Given the description of an element on the screen output the (x, y) to click on. 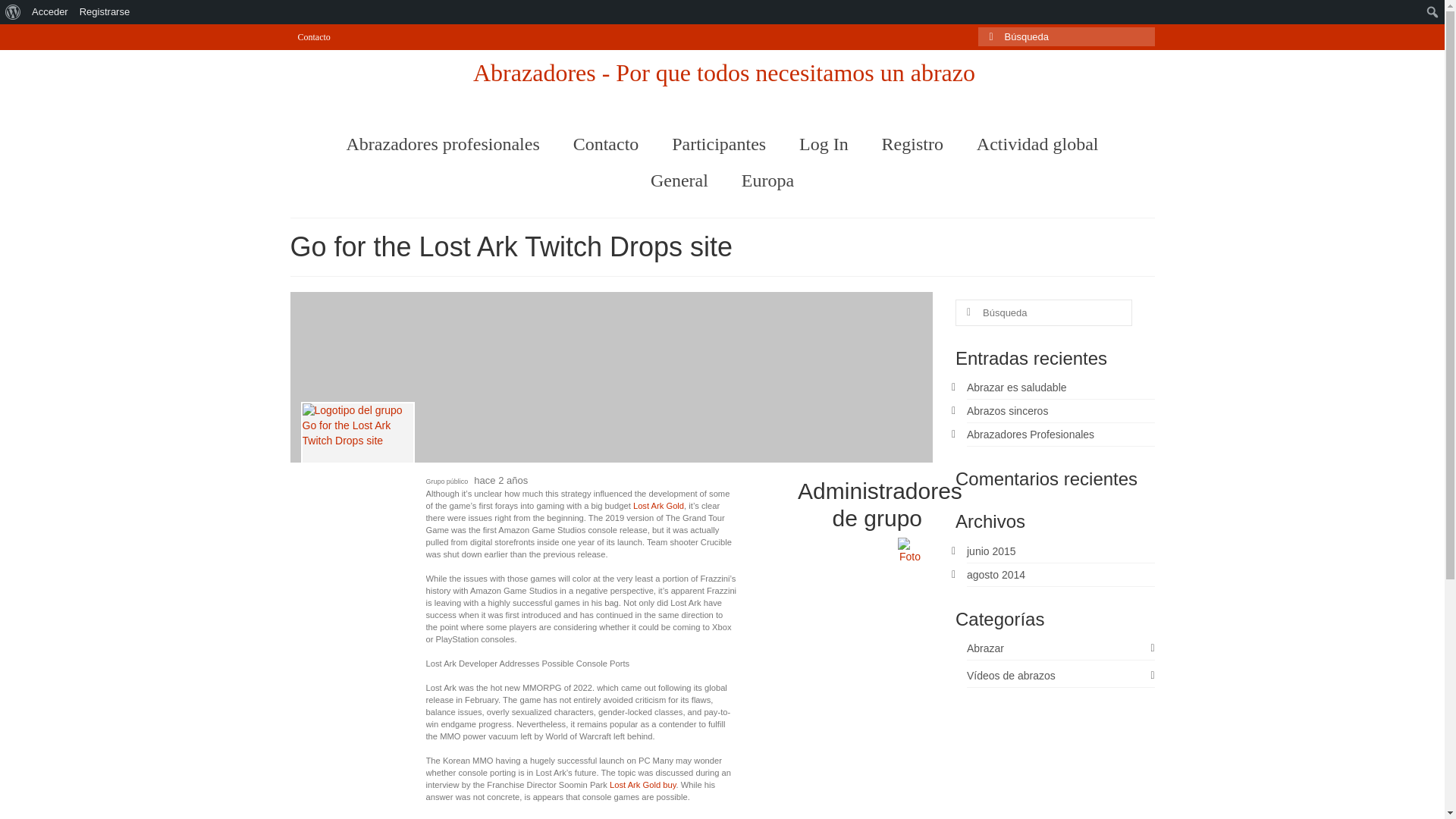
Abrazadores profesionales (442, 144)
Registro (912, 144)
General (678, 180)
Actividad global (1036, 144)
Contacto (313, 36)
Registrarse (104, 12)
Buscar (16, 13)
Acceder (50, 12)
Europa (767, 180)
Contacto (605, 144)
Participantes (718, 144)
Lost Ark Gold buy (642, 784)
Abrazadores - Por que todos necesitamos un abrazo (724, 72)
Log In (823, 144)
Lost Ark Gold (658, 505)
